Given the description of an element on the screen output the (x, y) to click on. 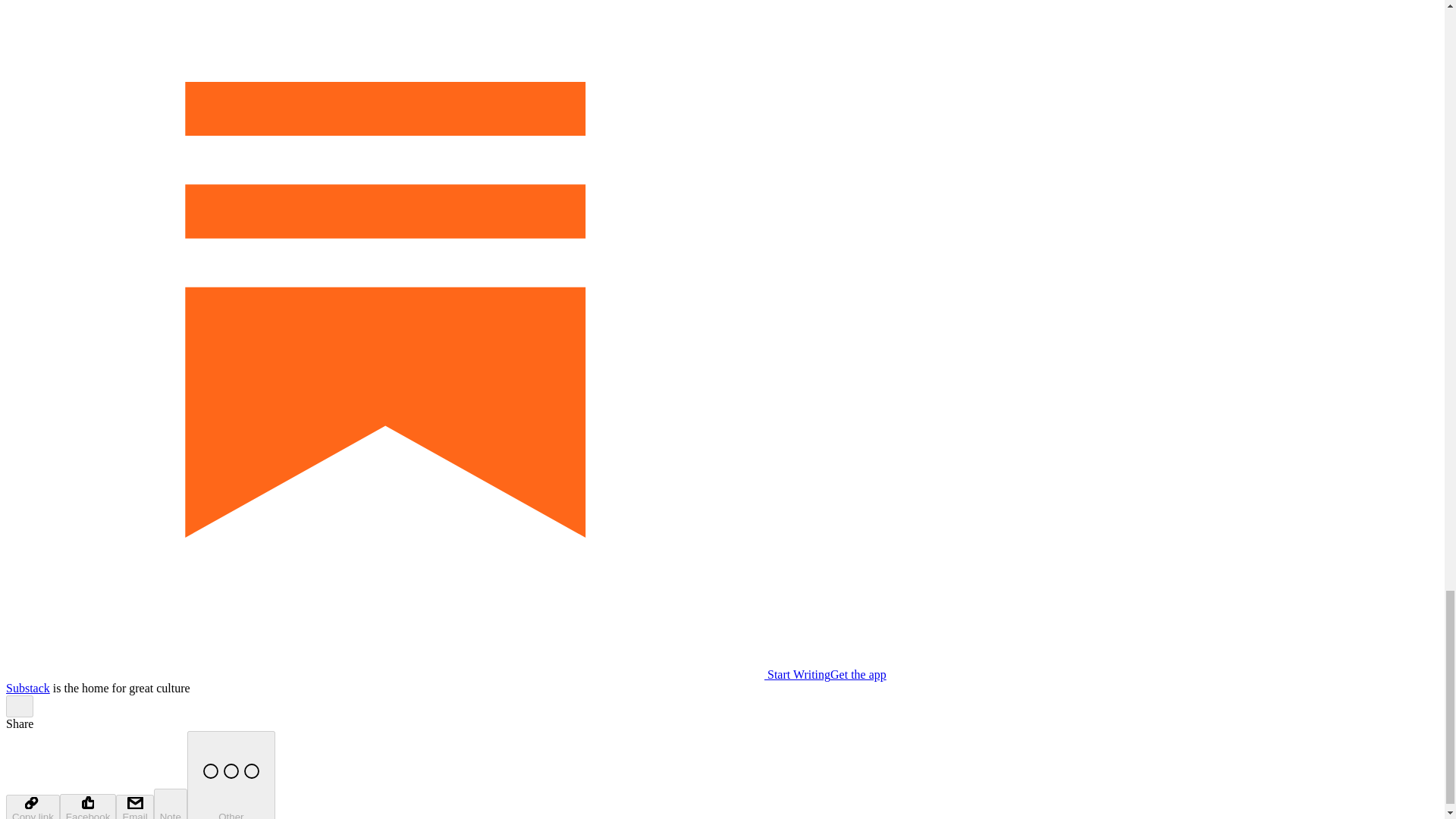
Start Writing (417, 674)
Substack (27, 687)
Get the app (857, 674)
